Given the description of an element on the screen output the (x, y) to click on. 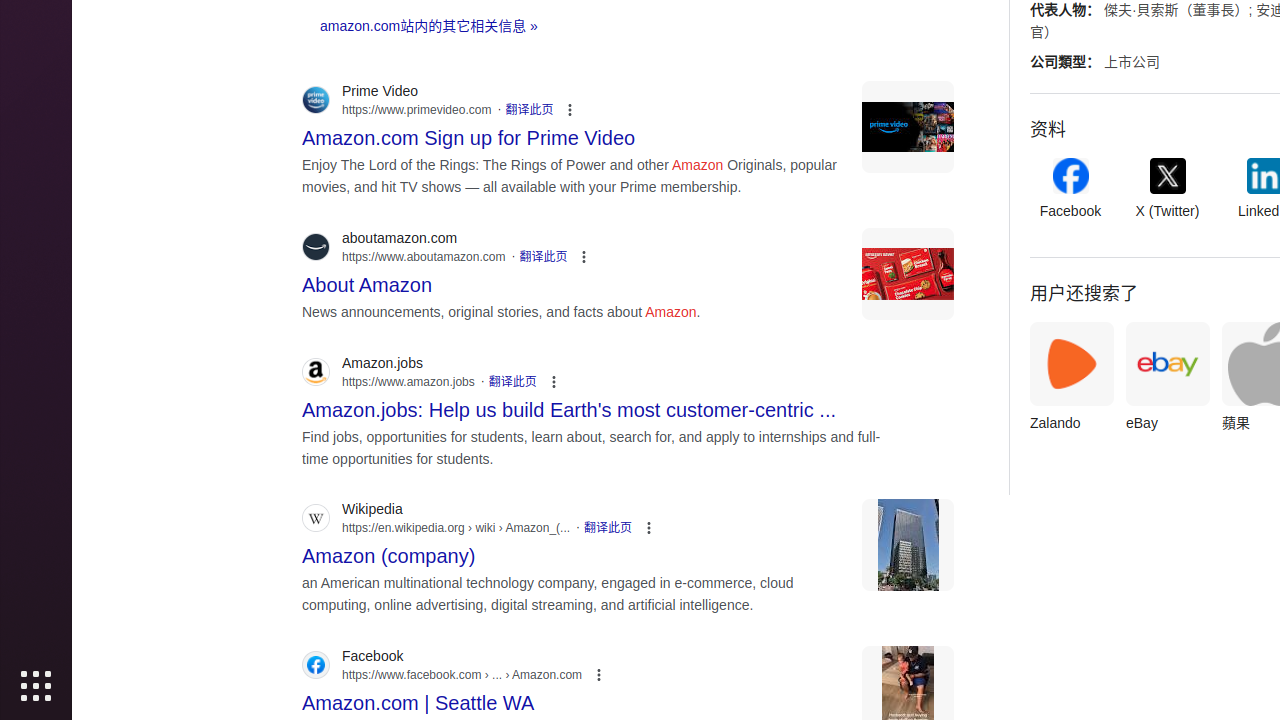
 Amazon.com | Seattle WA Facebook https://www.facebook.com › ... › Amazon.com Element type: link (418, 697)
eBay Element type: link (1168, 382)
来自en.wikipedia.org的“amazon” Element type: link (908, 545)
 Amazon.jobs: Help us build Earth's most customer-centric ... Amazon.jobs https://www.amazon.jobs Element type: link (569, 404)
Facebook Element type: link (1070, 189)
